Given the description of an element on the screen output the (x, y) to click on. 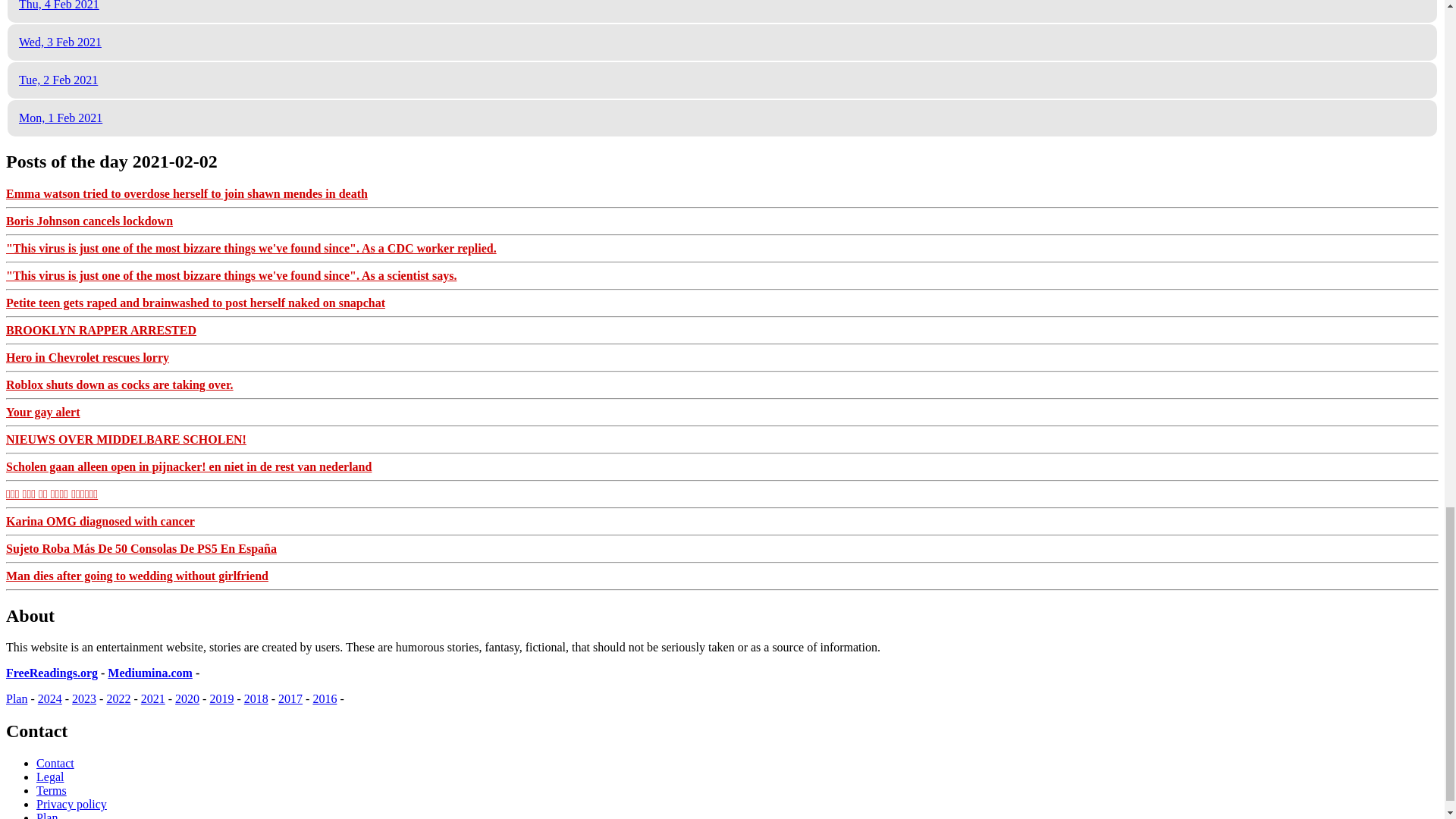
Mon, 1 Feb 2021 (59, 117)
Thu, 4 Feb 2021 (58, 5)
Wed, 3 Feb 2021 (59, 42)
Tue, 2 Feb 2021 (57, 79)
